Given the description of an element on the screen output the (x, y) to click on. 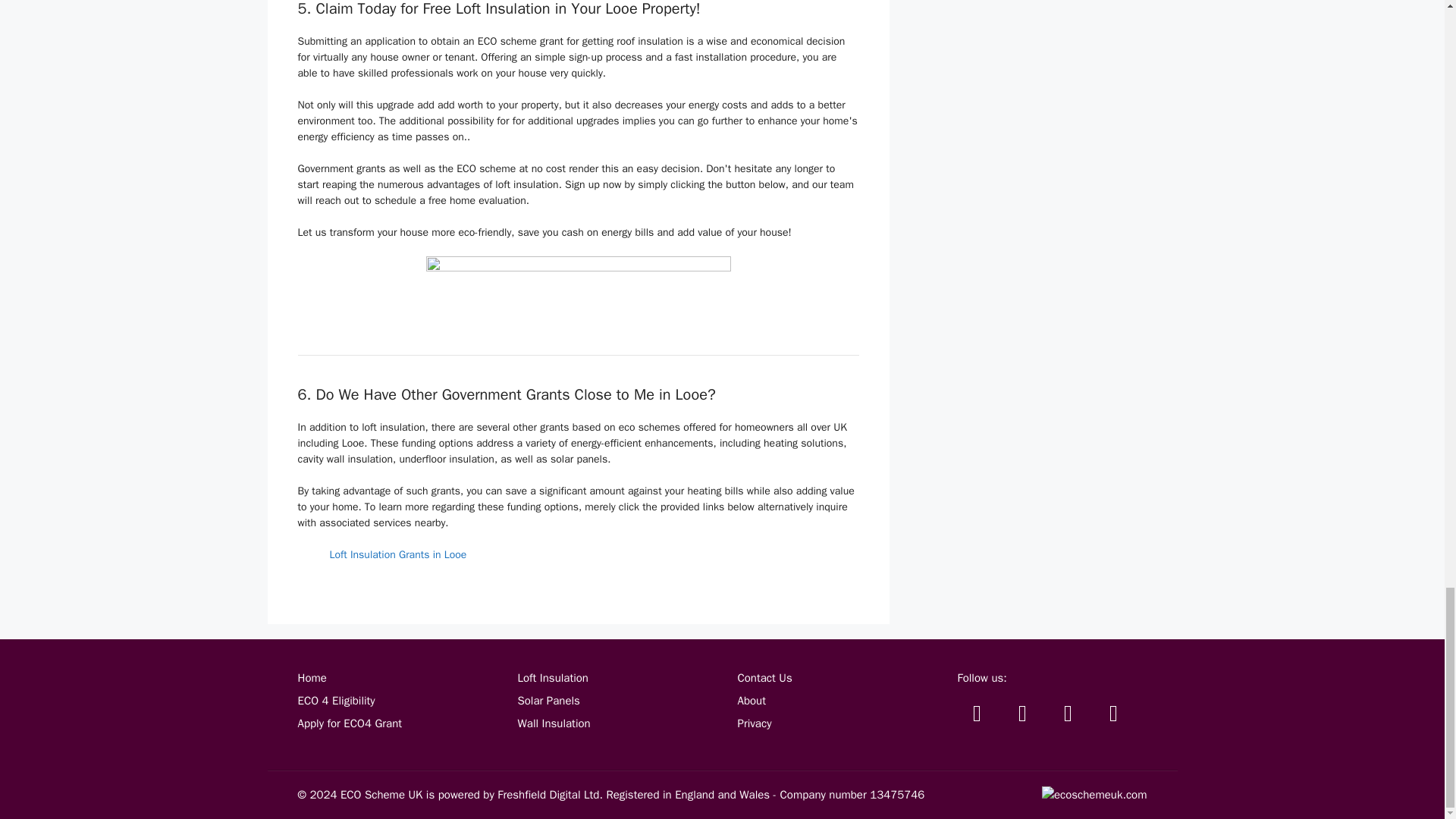
Apply for ECO4 Grant (349, 723)
Loft Insulation Grants in Looe (397, 554)
Facebook (1022, 713)
Twitter (975, 713)
ECO 4 Eligibility (335, 700)
Wall Insulation (552, 723)
ECO Scheme UK (381, 794)
About (750, 700)
YouTube (1067, 713)
ecoschemeuk.com (1094, 794)
